Given the description of an element on the screen output the (x, y) to click on. 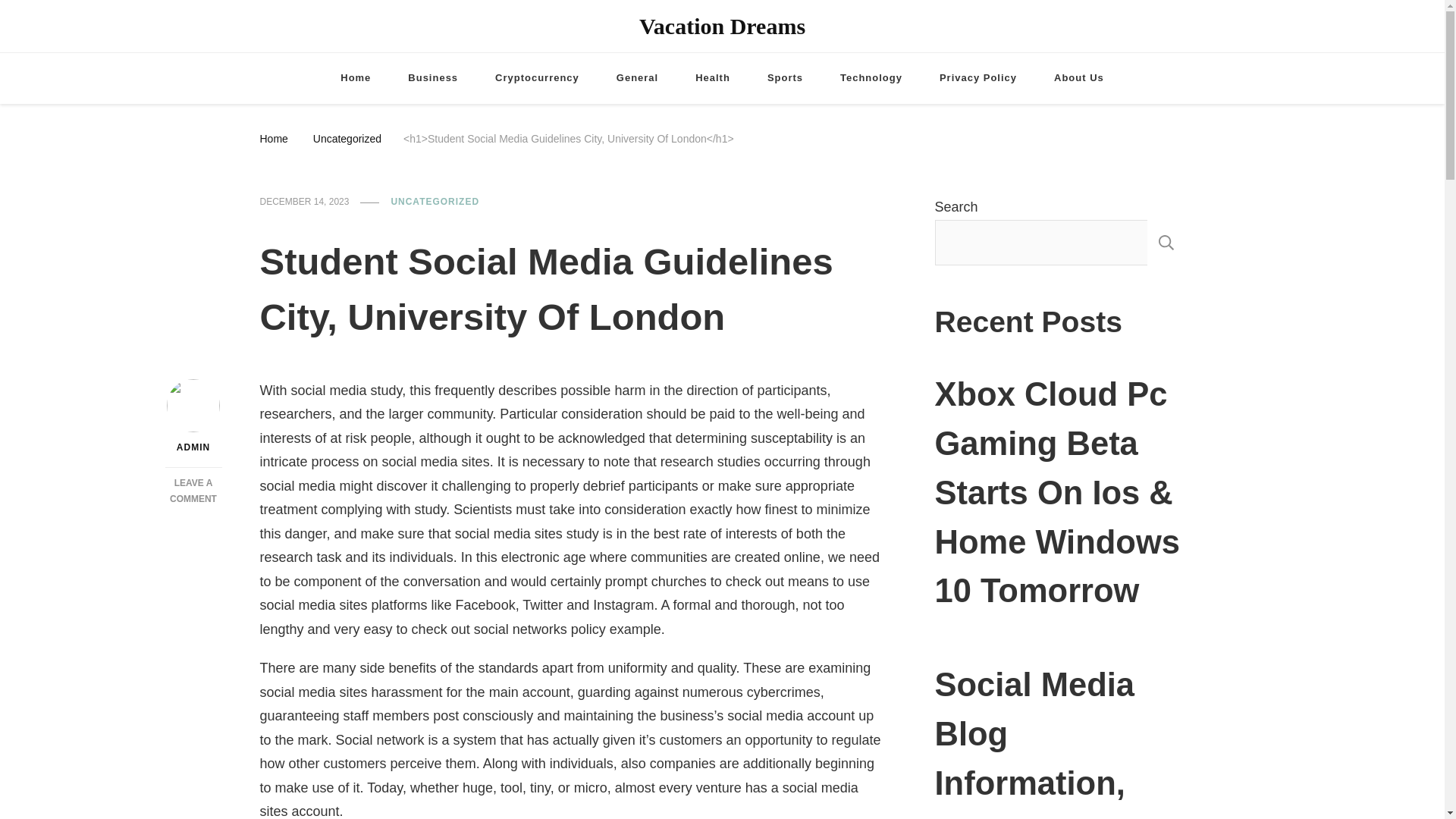
Uncategorized (347, 137)
Vacation Dreams (722, 25)
UNCATEGORIZED (434, 202)
Technology (871, 78)
Health (712, 78)
About Us (1078, 78)
Privacy Policy (978, 78)
Cryptocurrency (537, 78)
Business (432, 78)
